Given the description of an element on the screen output the (x, y) to click on. 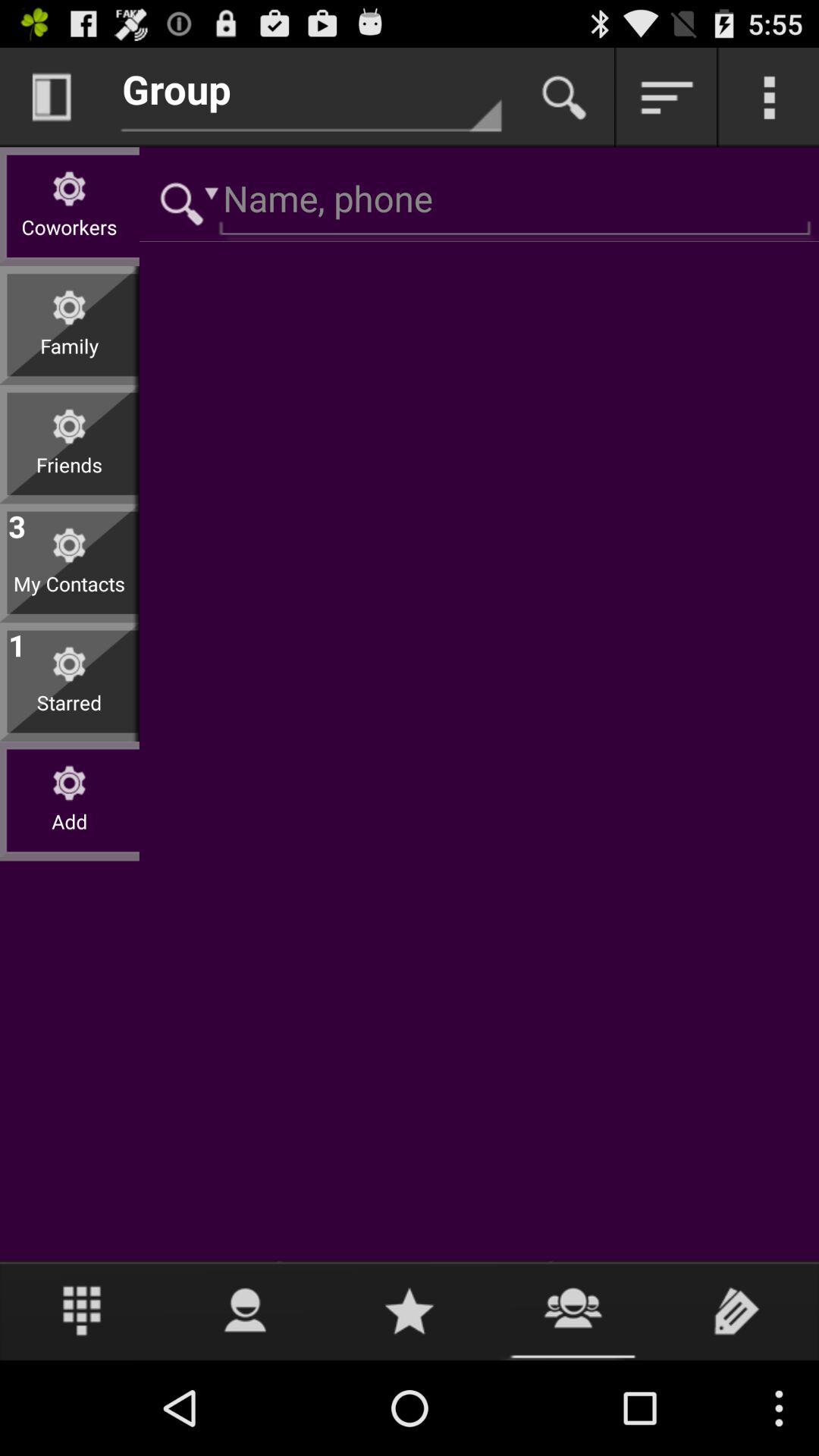
scroll to my contacts app (69, 595)
